Given the description of an element on the screen output the (x, y) to click on. 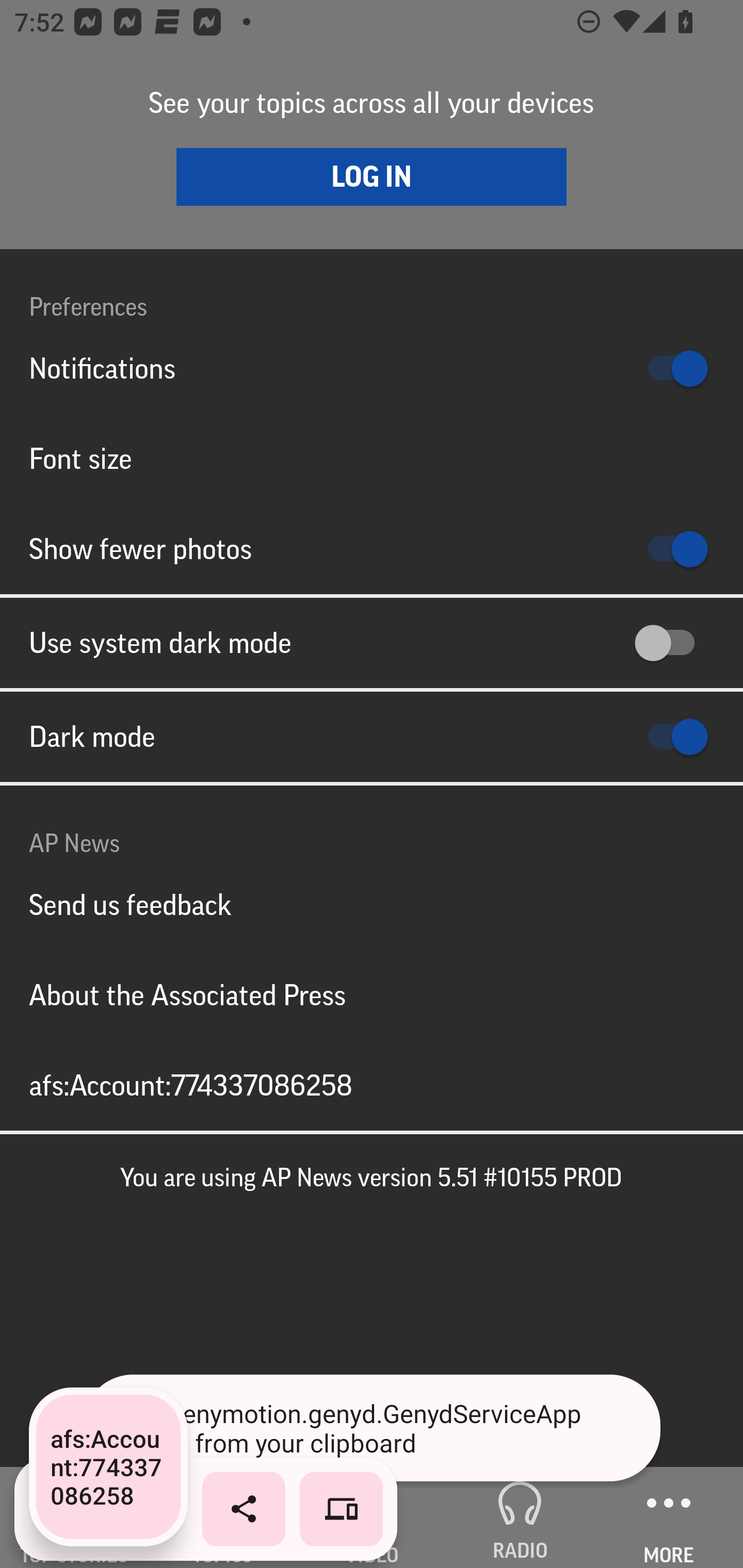
LOG IN (371, 176)
Notifications (371, 368)
Font size (371, 458)
Show fewer photos (371, 548)
Use system dark mode (371, 642)
Dark mode (371, 736)
Send us feedback (371, 904)
About the Associated Press (371, 994)
afs:Account:774337086258 (371, 1084)
TOPICS (222, 1517)
VIDEO (371, 1517)
RADIO (519, 1517)
MORE (668, 1517)
